Given the description of an element on the screen output the (x, y) to click on. 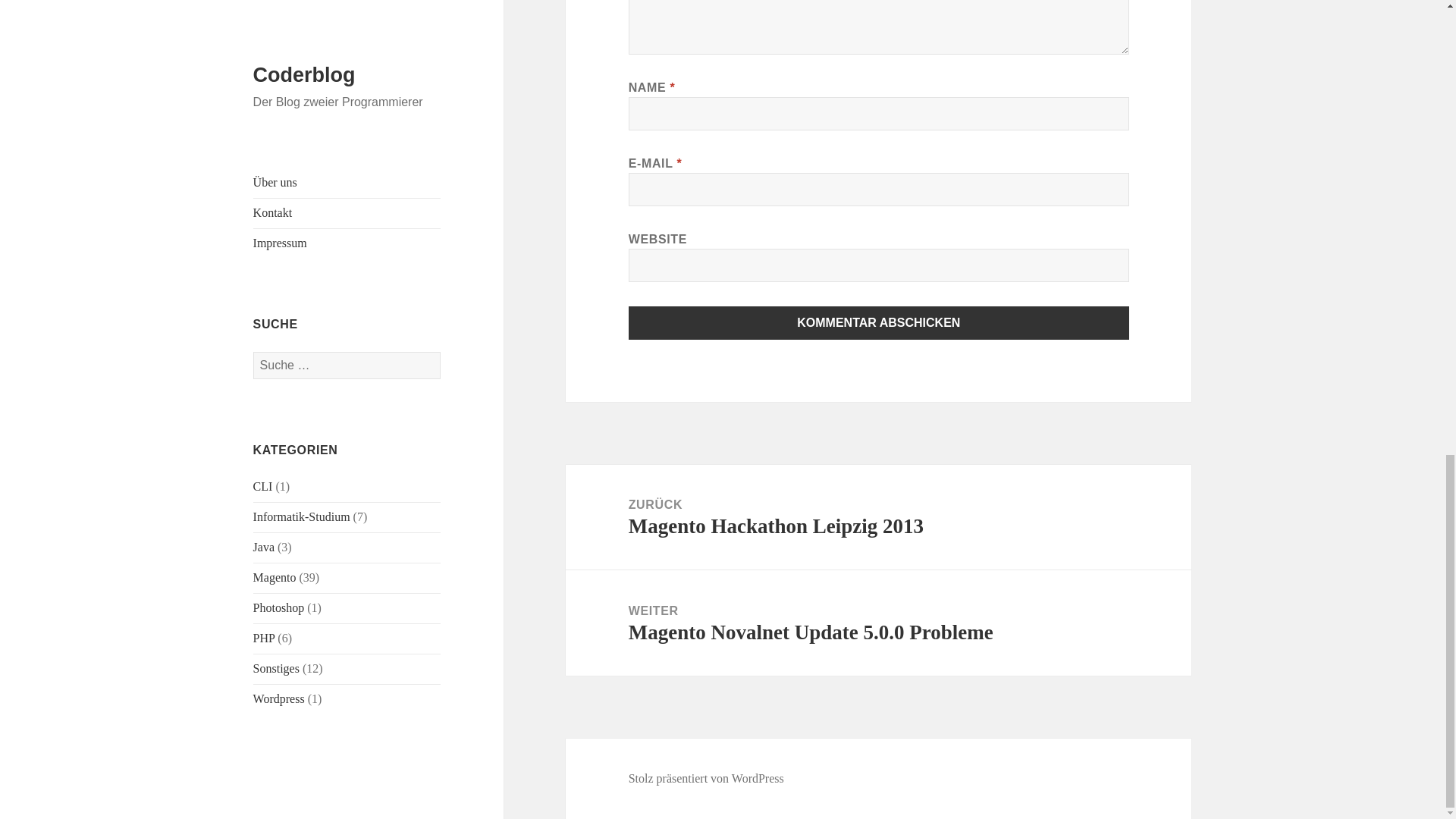
Kommentar abschicken (878, 322)
Kommentar abschicken (878, 322)
